Given the description of an element on the screen output the (x, y) to click on. 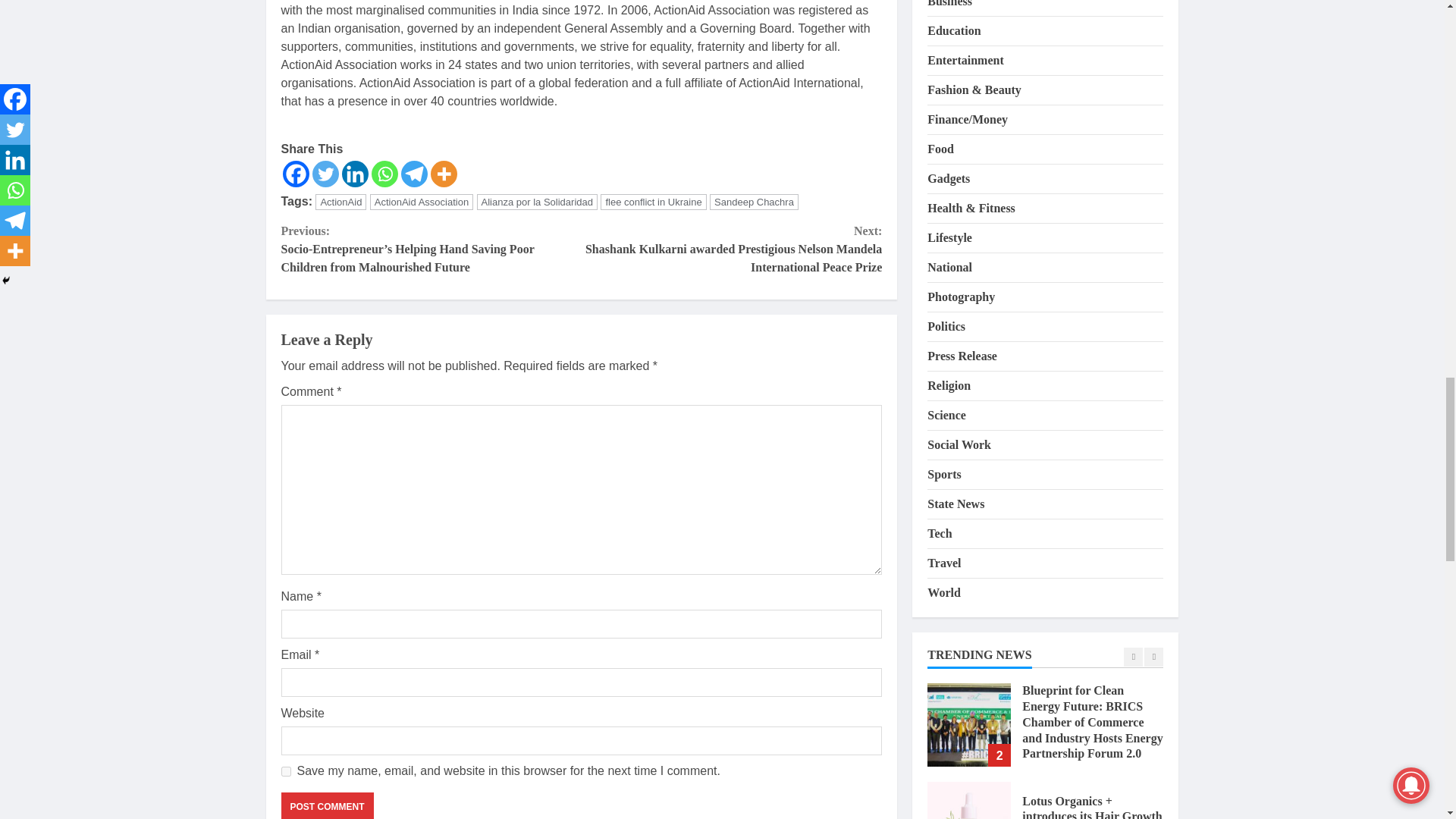
Post Comment (326, 805)
Linkedin (354, 173)
Telegram (413, 173)
Facebook (295, 173)
Twitter (326, 173)
yes (285, 771)
More (443, 173)
Whatsapp (384, 173)
